Given the description of an element on the screen output the (x, y) to click on. 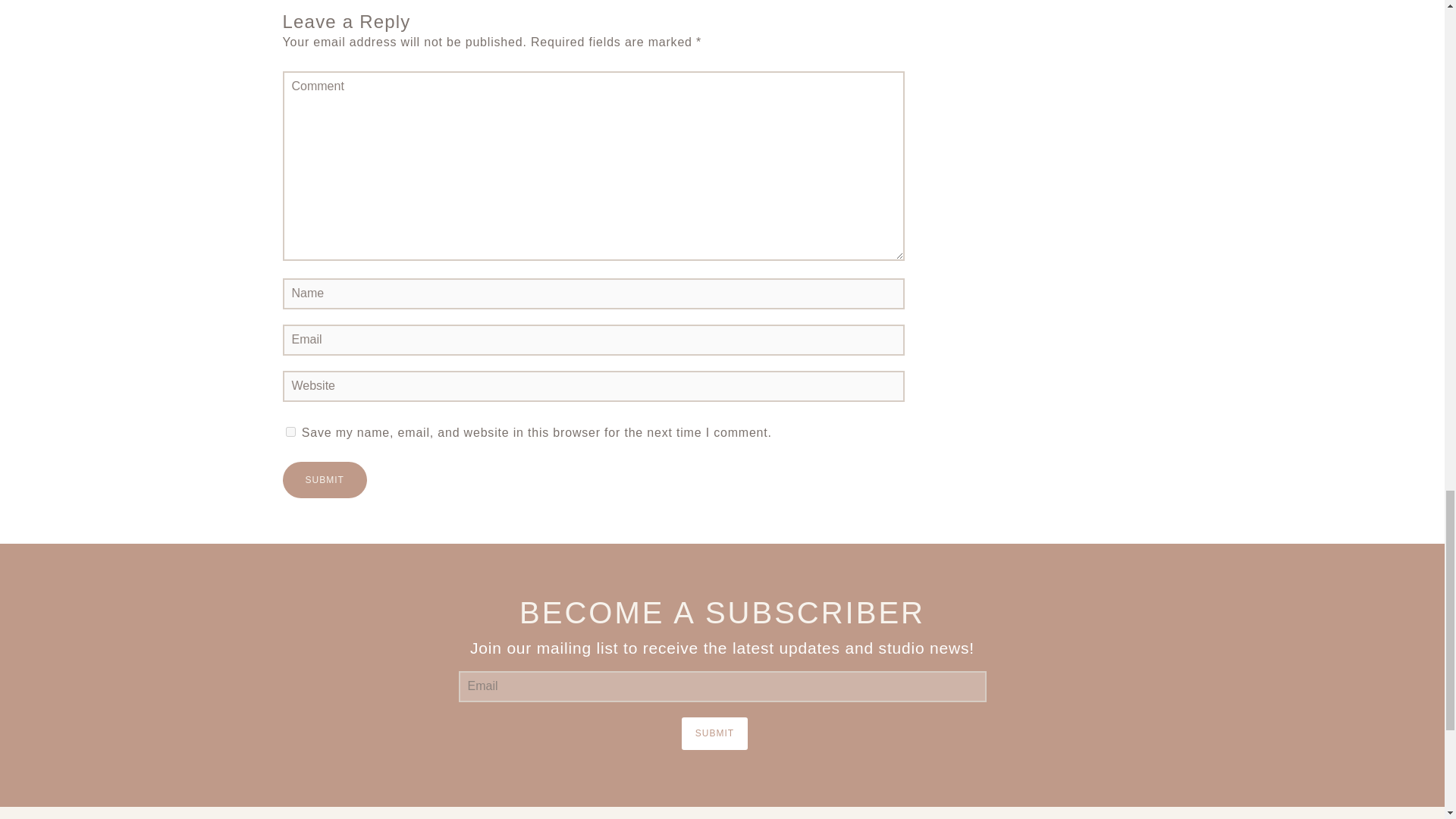
Submit (324, 479)
yes (290, 431)
Submit (714, 733)
